Given the description of an element on the screen output the (x, y) to click on. 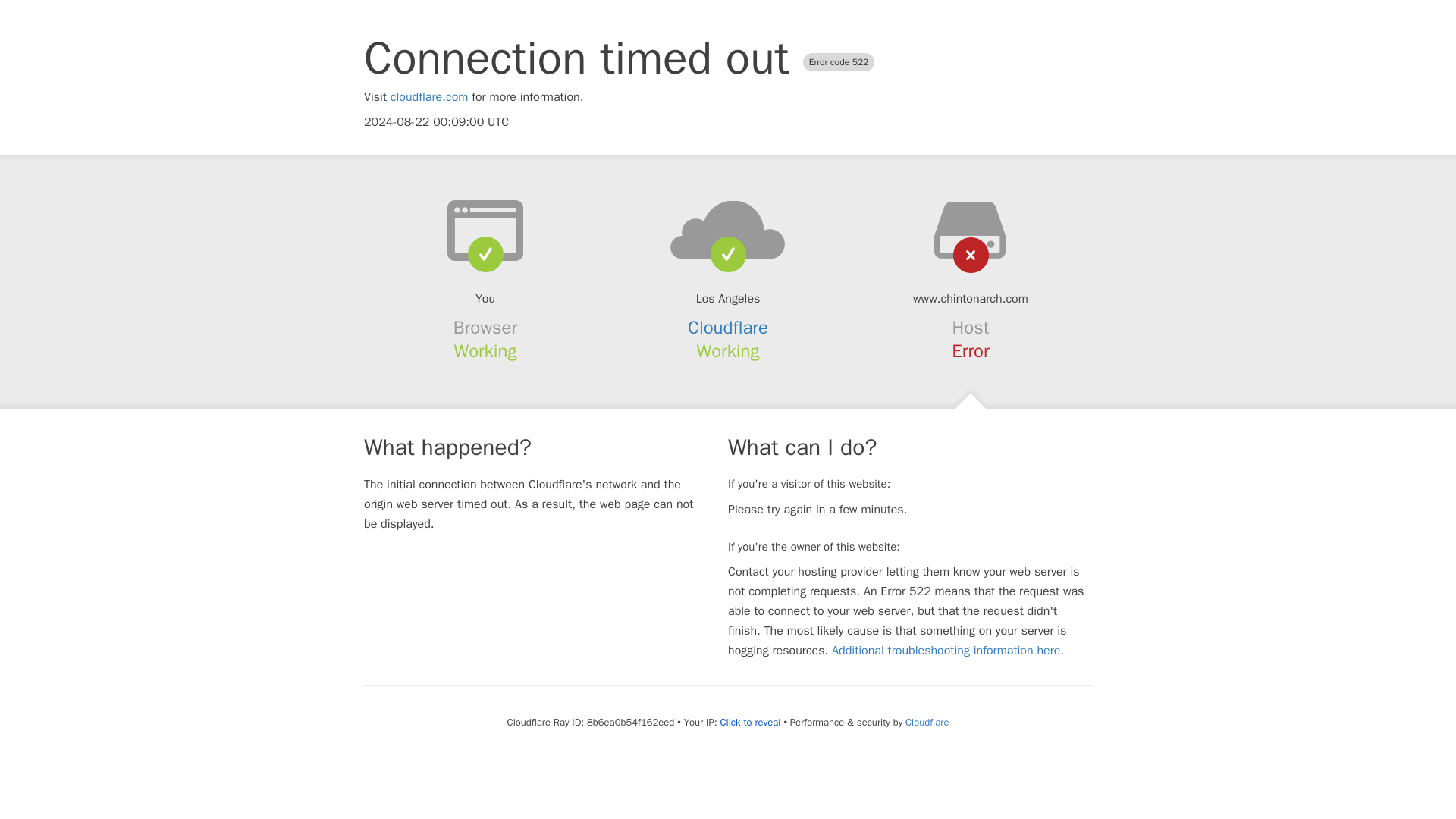
Cloudflare (727, 327)
Click to reveal (750, 722)
cloudflare.com (429, 96)
Cloudflare (927, 721)
Additional troubleshooting information here. (947, 650)
